Given the description of an element on the screen output the (x, y) to click on. 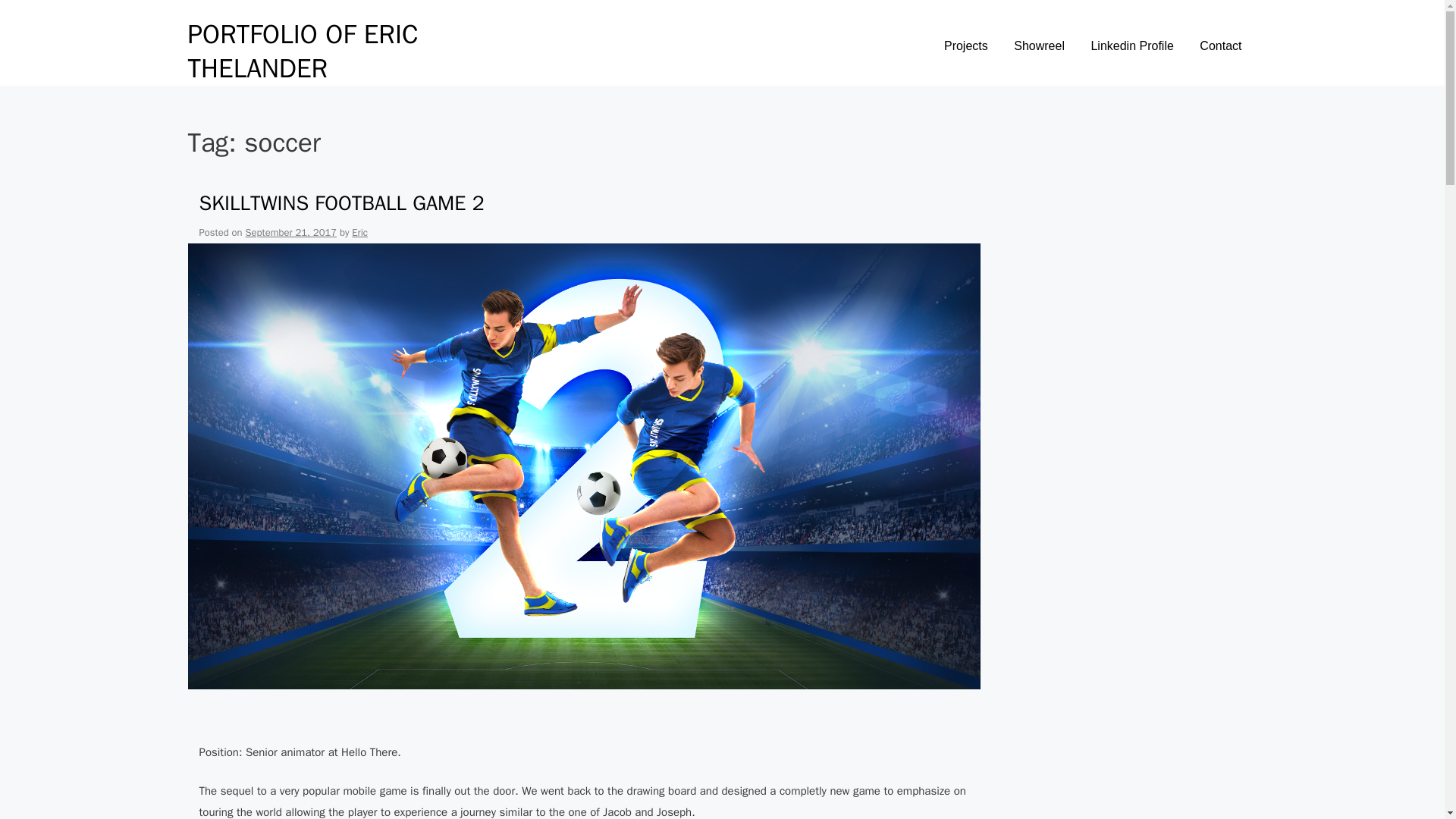
SKILLTWINS FOOTBALL GAME 2 (340, 203)
Contact (1220, 50)
Linkedin Profile (1131, 50)
Eric (360, 232)
Projects (965, 50)
PORTFOLIO OF ERIC THELANDER (303, 50)
September 21, 2017 (291, 232)
Showreel (1039, 50)
